Given the description of an element on the screen output the (x, y) to click on. 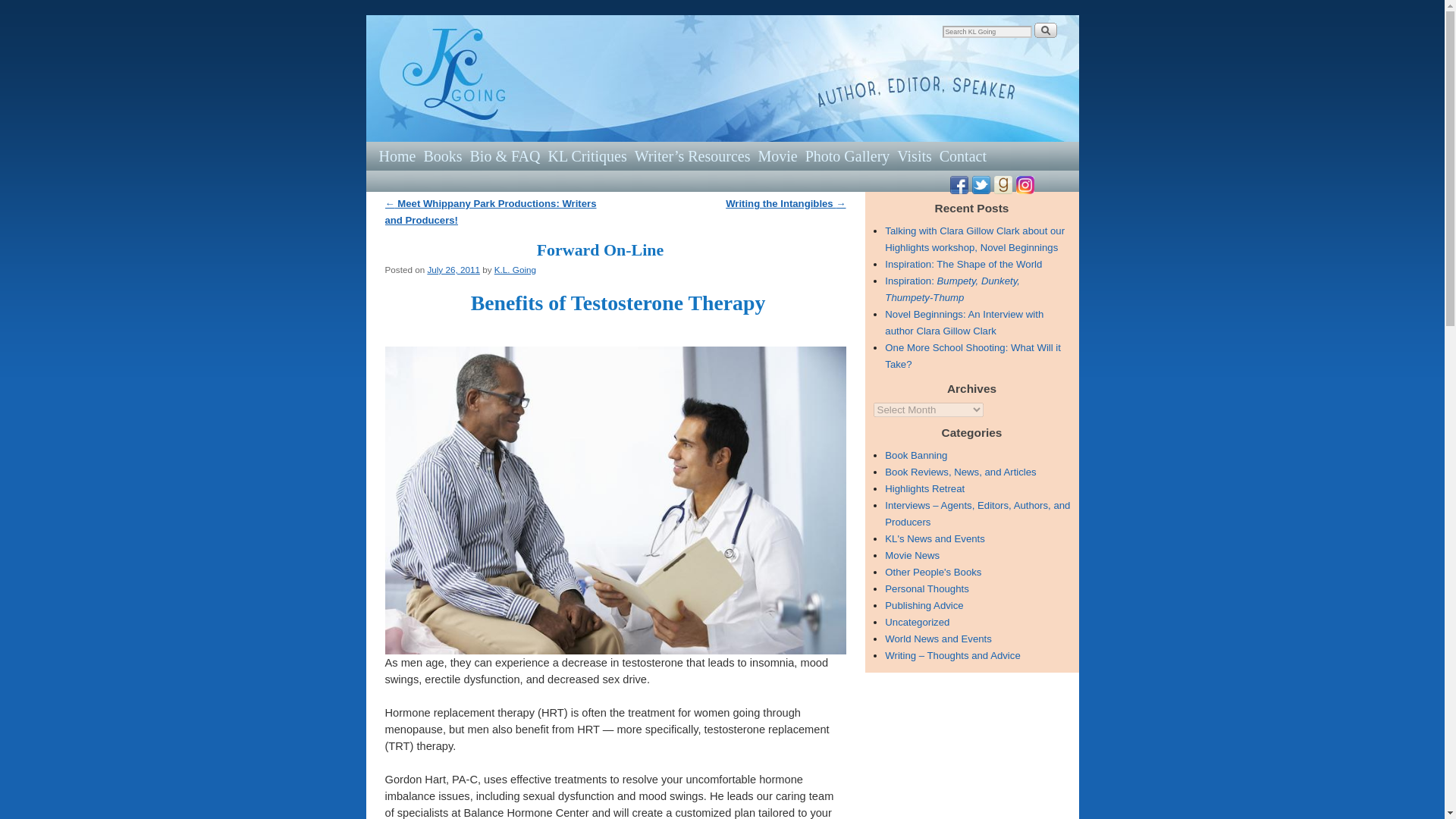
Home (396, 155)
One More School Shooting: What Will it Take? (973, 356)
Twitter (981, 183)
Facebook: social networking (958, 183)
Instagram (1024, 183)
July 26, 2011 (453, 269)
Instagram (1024, 185)
Visits (913, 155)
2:05 pm (453, 269)
Contact (963, 155)
KL Critiques (587, 155)
Photo Gallery (847, 155)
Book Banning (916, 455)
Inspiration: Bumpety, Dunkety, Thumpety-Thump (952, 289)
